Given the description of an element on the screen output the (x, y) to click on. 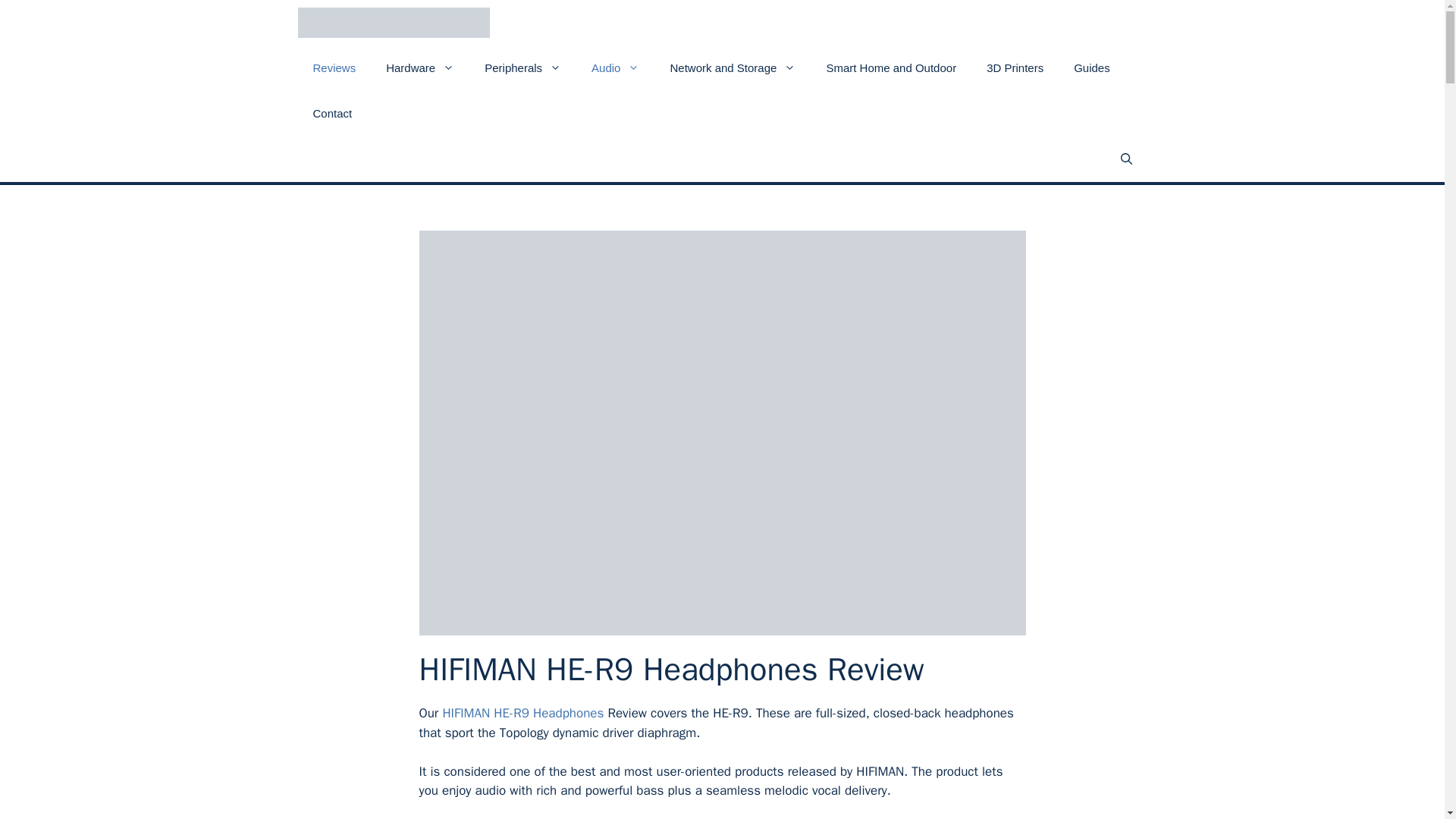
Peripherals (522, 67)
Latest in Tech (393, 22)
3D Printers (1014, 67)
Reviews (334, 67)
Contact (331, 113)
Smart Home and Outdoor (890, 67)
Guides (1091, 67)
Network and Storage (731, 67)
Hardware (419, 67)
